Given the description of an element on the screen output the (x, y) to click on. 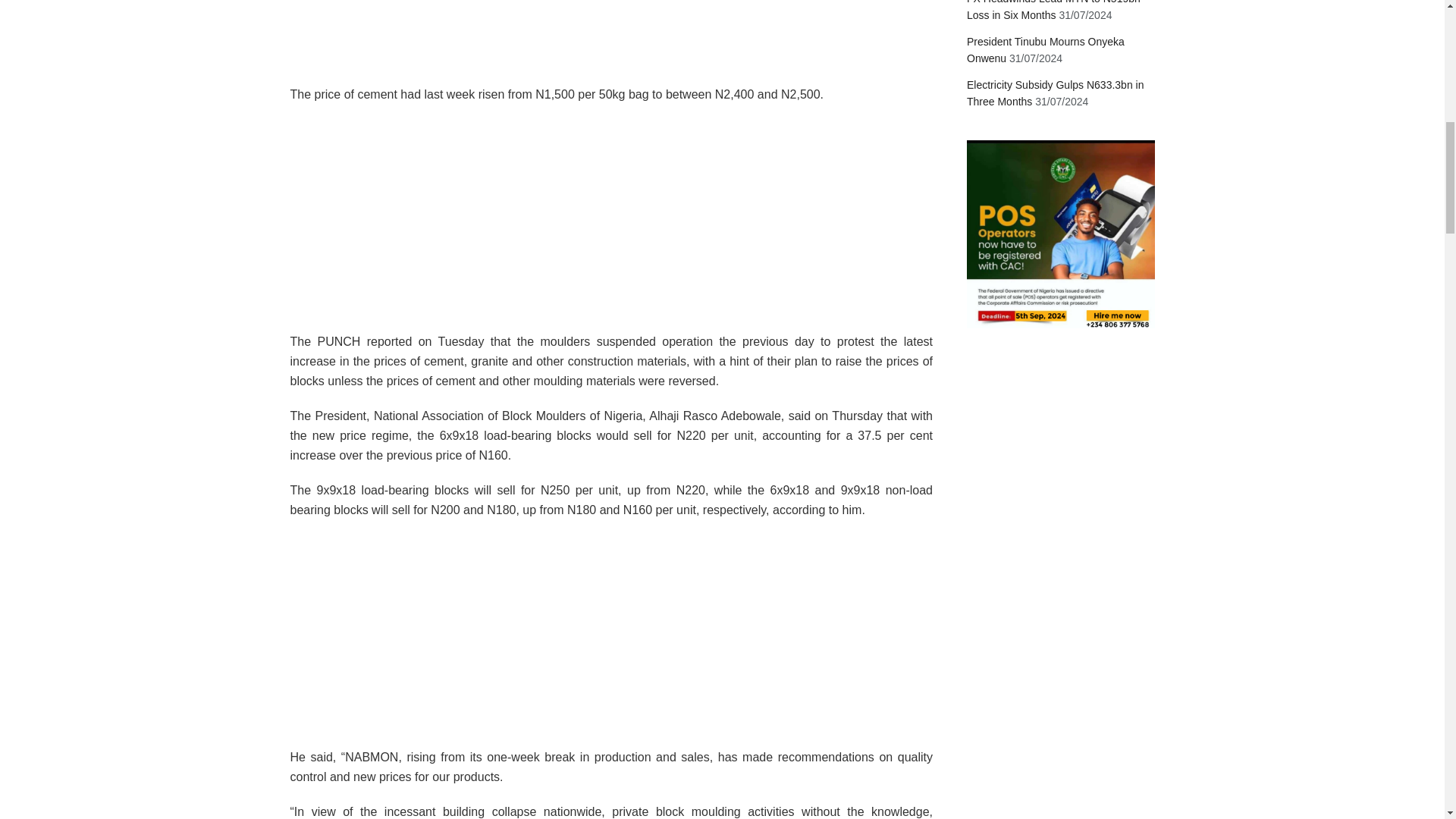
Advertisement (611, 42)
